Given the description of an element on the screen output the (x, y) to click on. 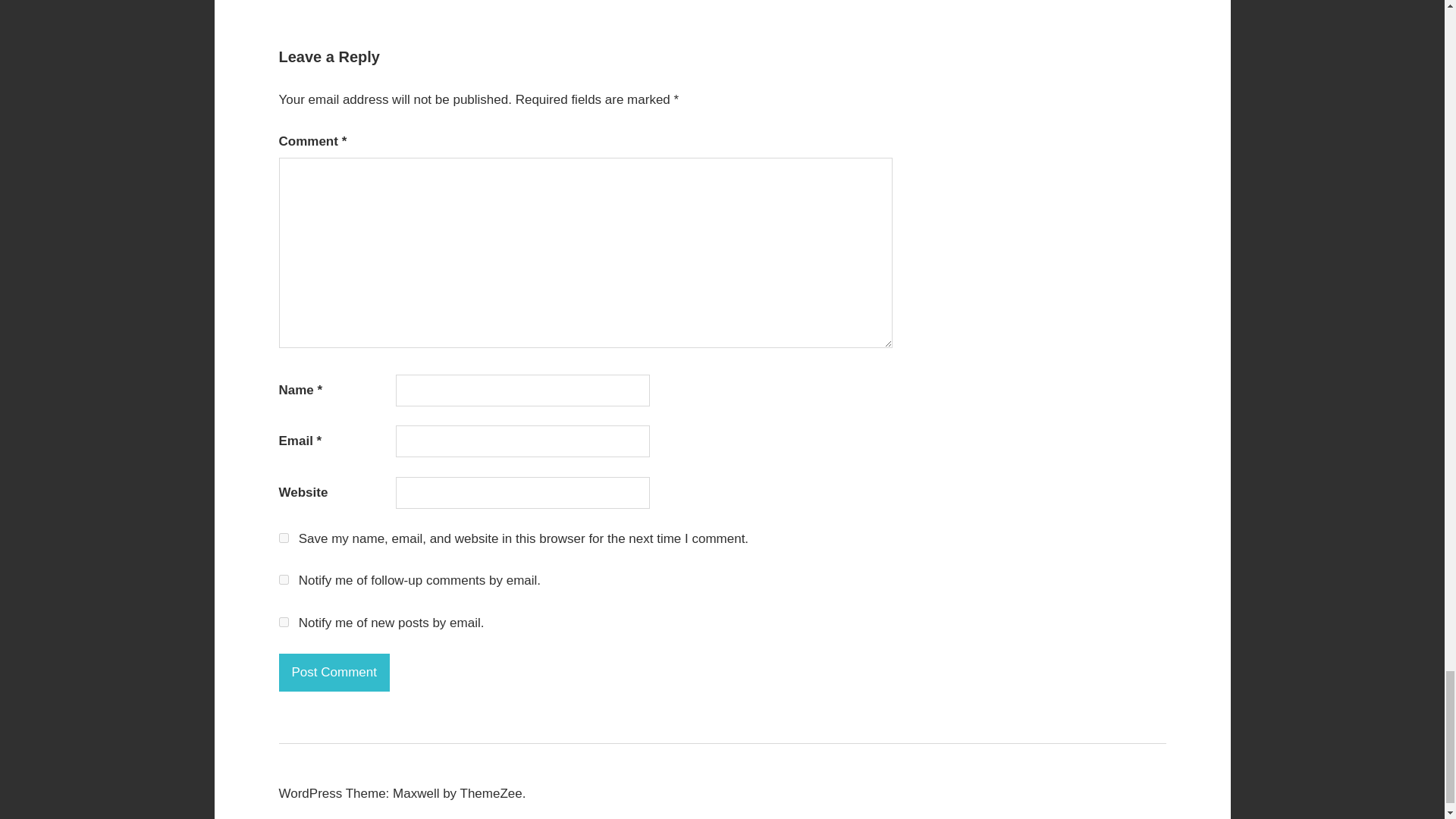
Post Comment (334, 672)
subscribe (283, 579)
yes (283, 537)
subscribe (283, 622)
Post Comment (334, 672)
